Given the description of an element on the screen output the (x, y) to click on. 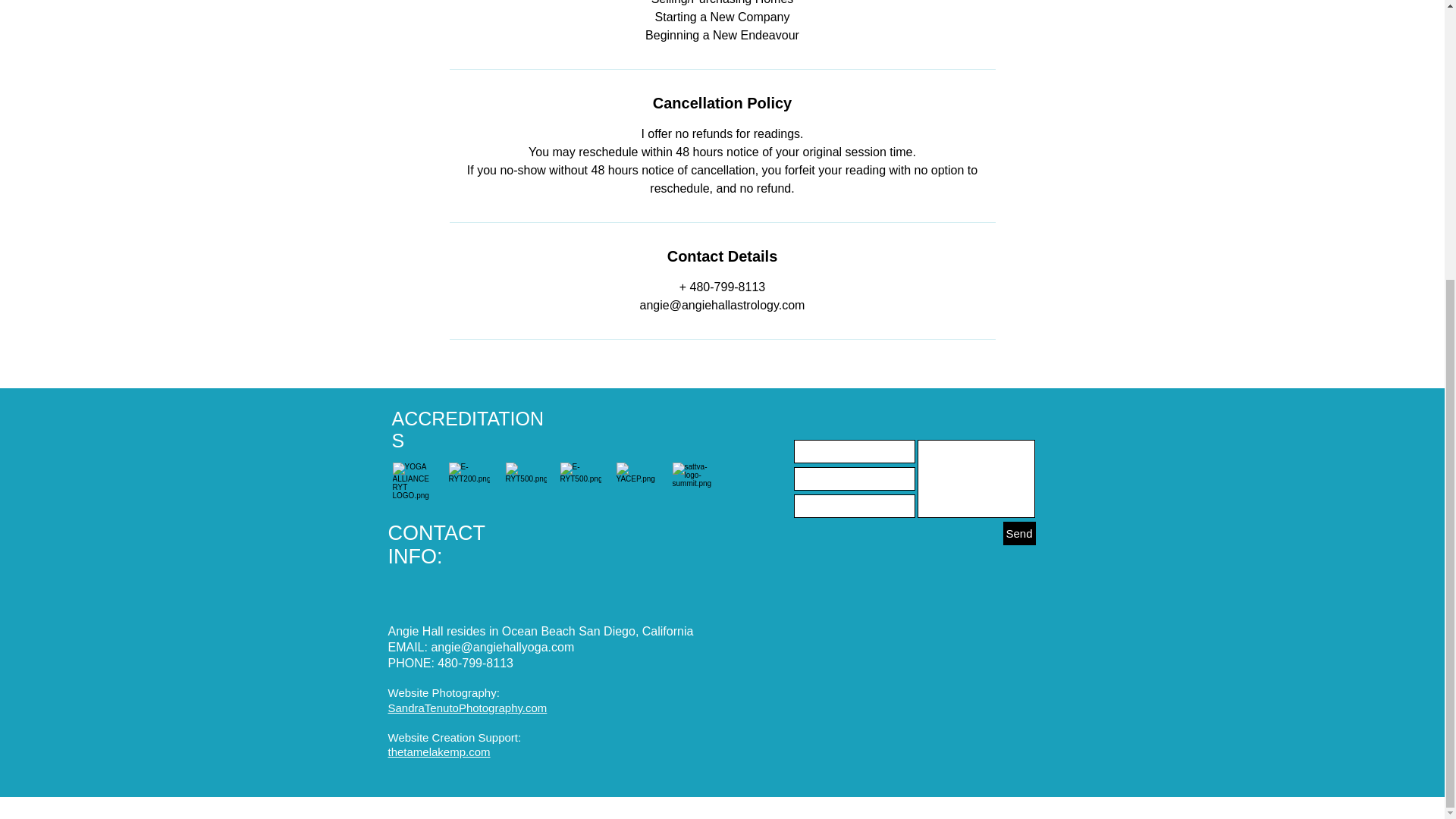
Send (1019, 533)
thetamelakemp.com (439, 751)
SandraTenutoPhotography.com (467, 707)
